Given the description of an element on the screen output the (x, y) to click on. 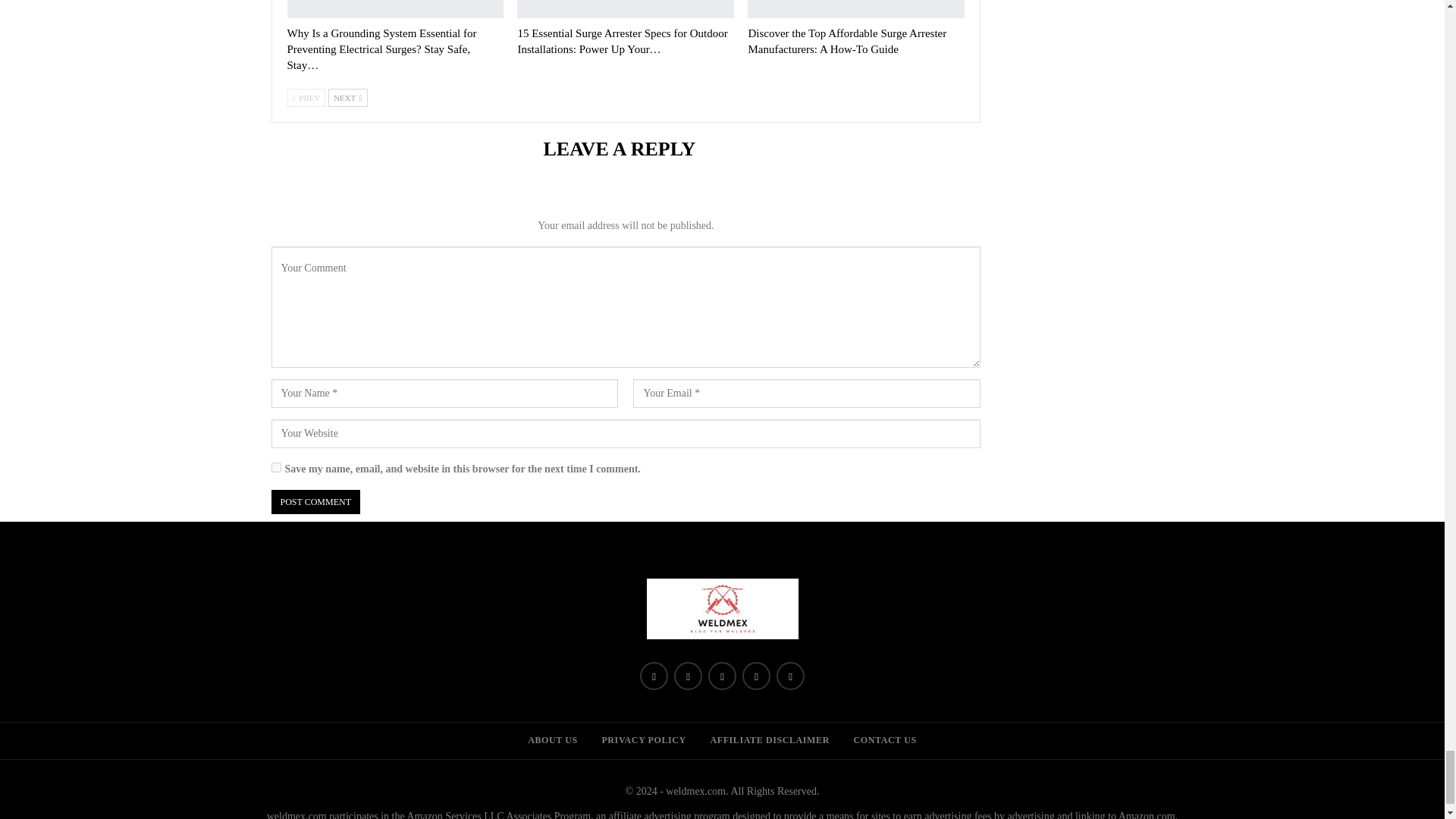
yes (275, 467)
Post Comment (314, 502)
